Given the description of an element on the screen output the (x, y) to click on. 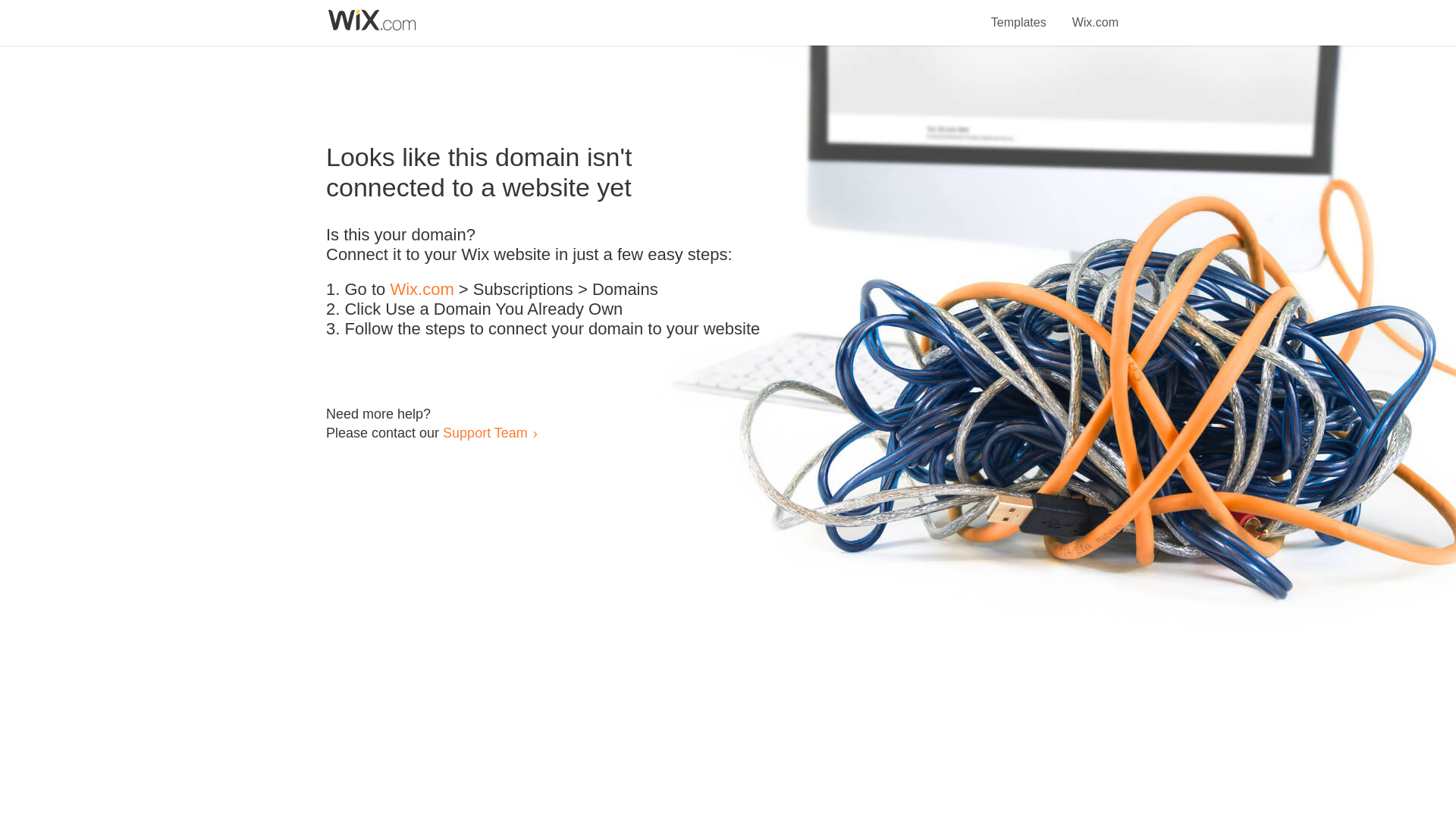
Wix.com (421, 289)
Support Team (484, 432)
Wix.com (1095, 14)
Templates (1018, 14)
